Given the description of an element on the screen output the (x, y) to click on. 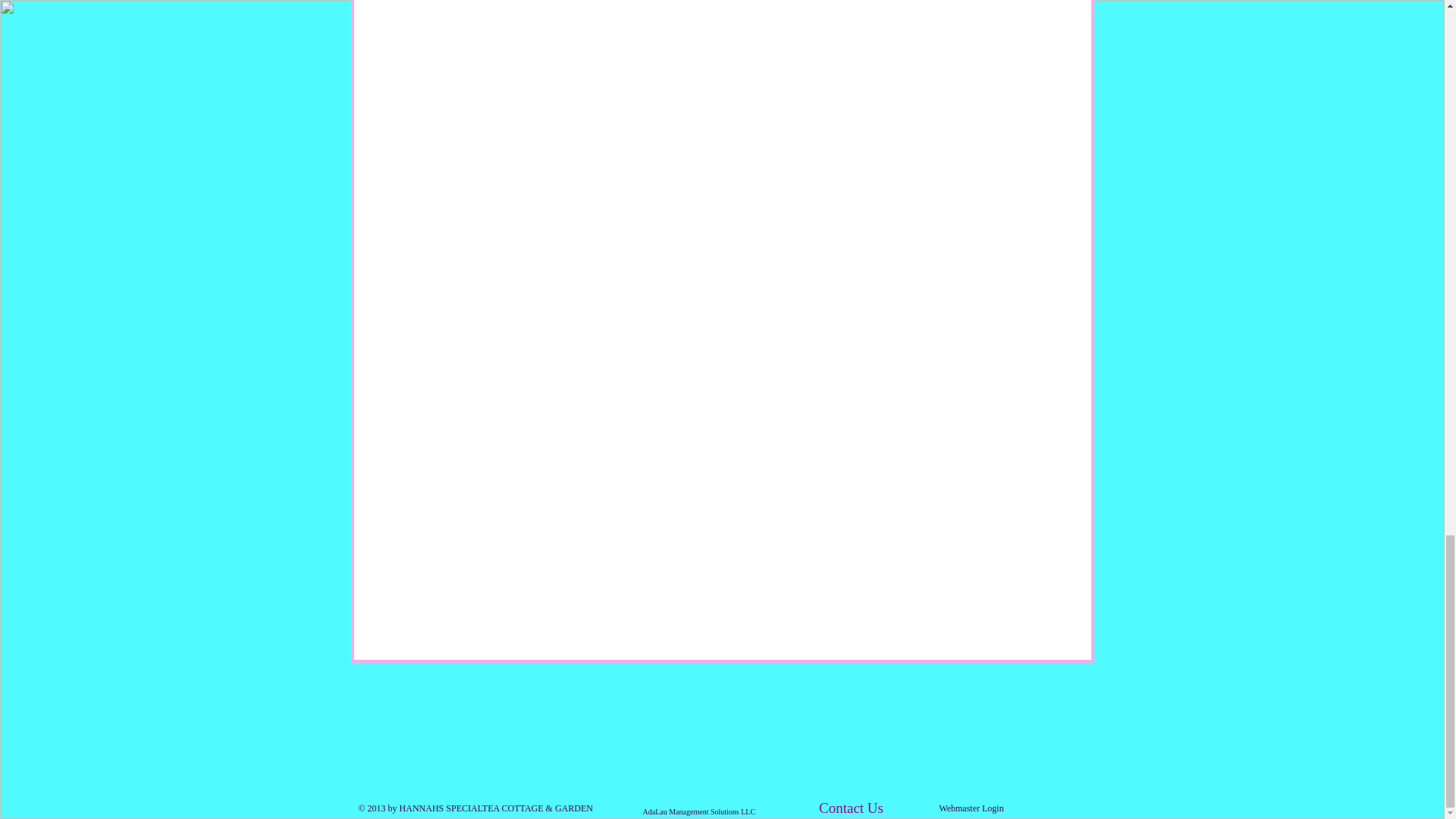
Webmaster Login (970, 809)
